Given the description of an element on the screen output the (x, y) to click on. 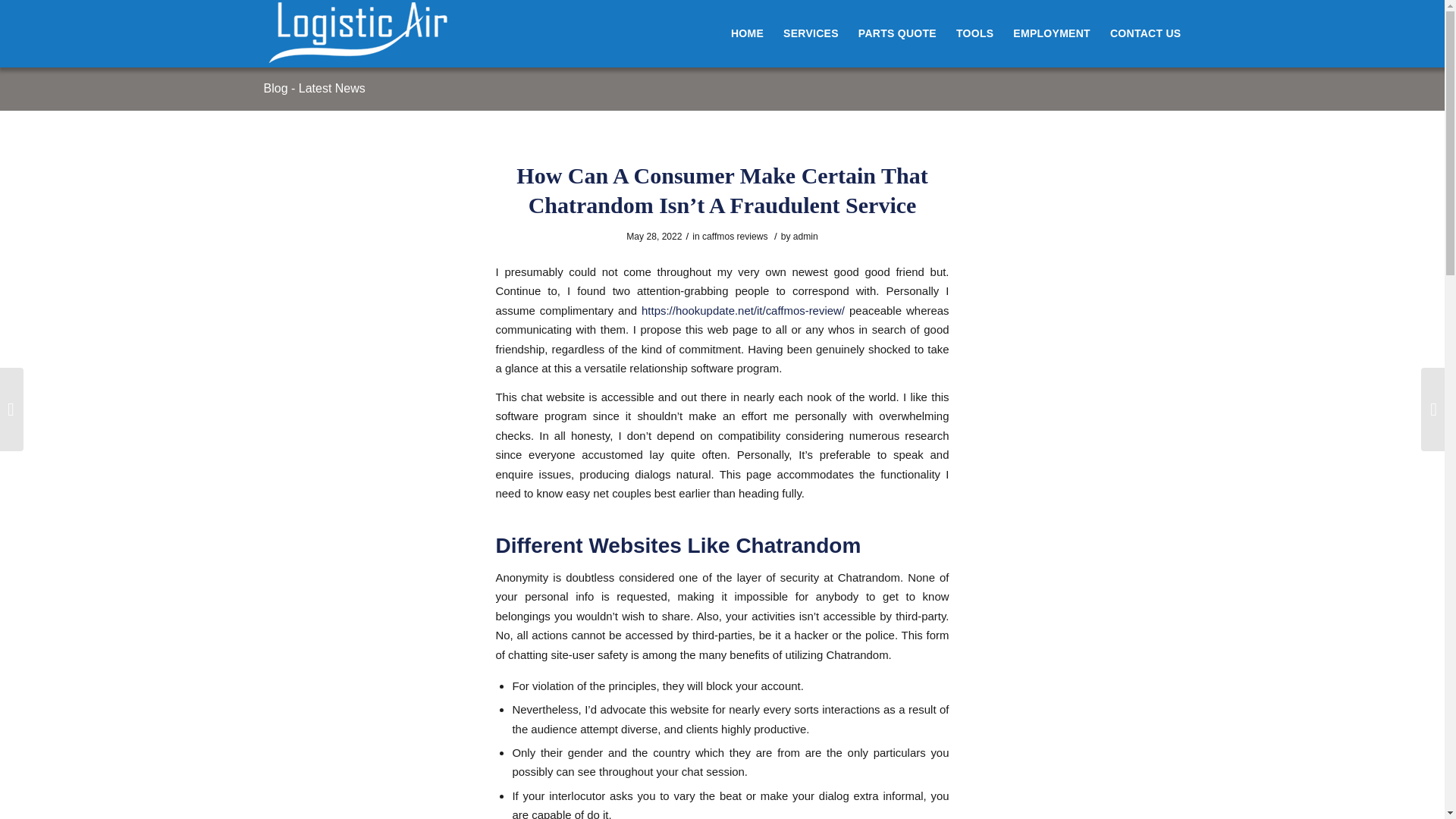
EMPLOYMENT (1051, 33)
Permanent Link: Blog - Latest News (314, 88)
admin (805, 235)
Blog - Latest News (314, 88)
CONTACT US (1140, 33)
Posts by admin (805, 235)
PARTS QUOTE (897, 33)
SERVICES (810, 33)
caffmos reviews (734, 235)
